Given the description of an element on the screen output the (x, y) to click on. 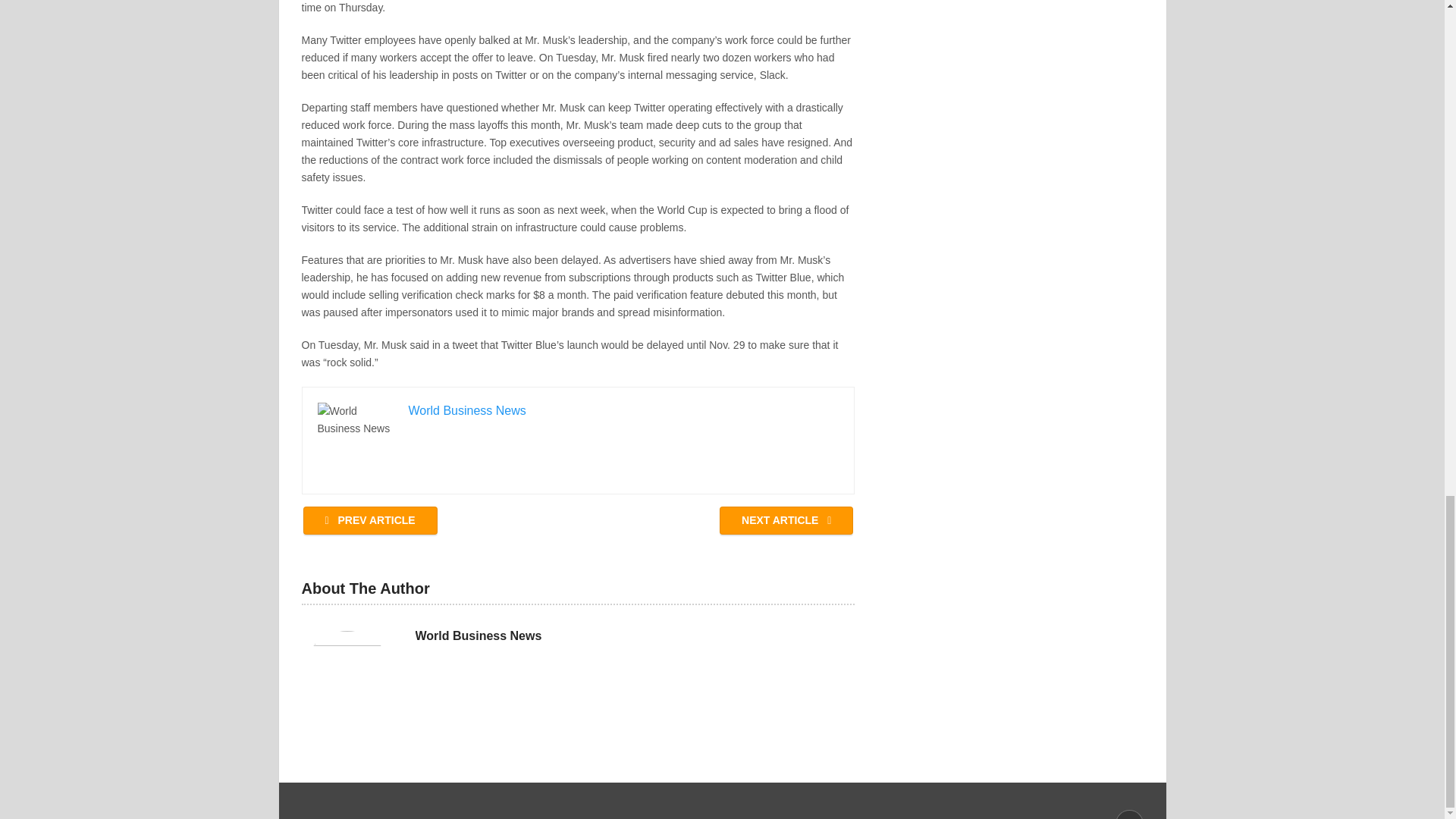
PREV ARTICLE (370, 520)
World Business News (477, 636)
NEXT ARTICLE (786, 520)
